Given the description of an element on the screen output the (x, y) to click on. 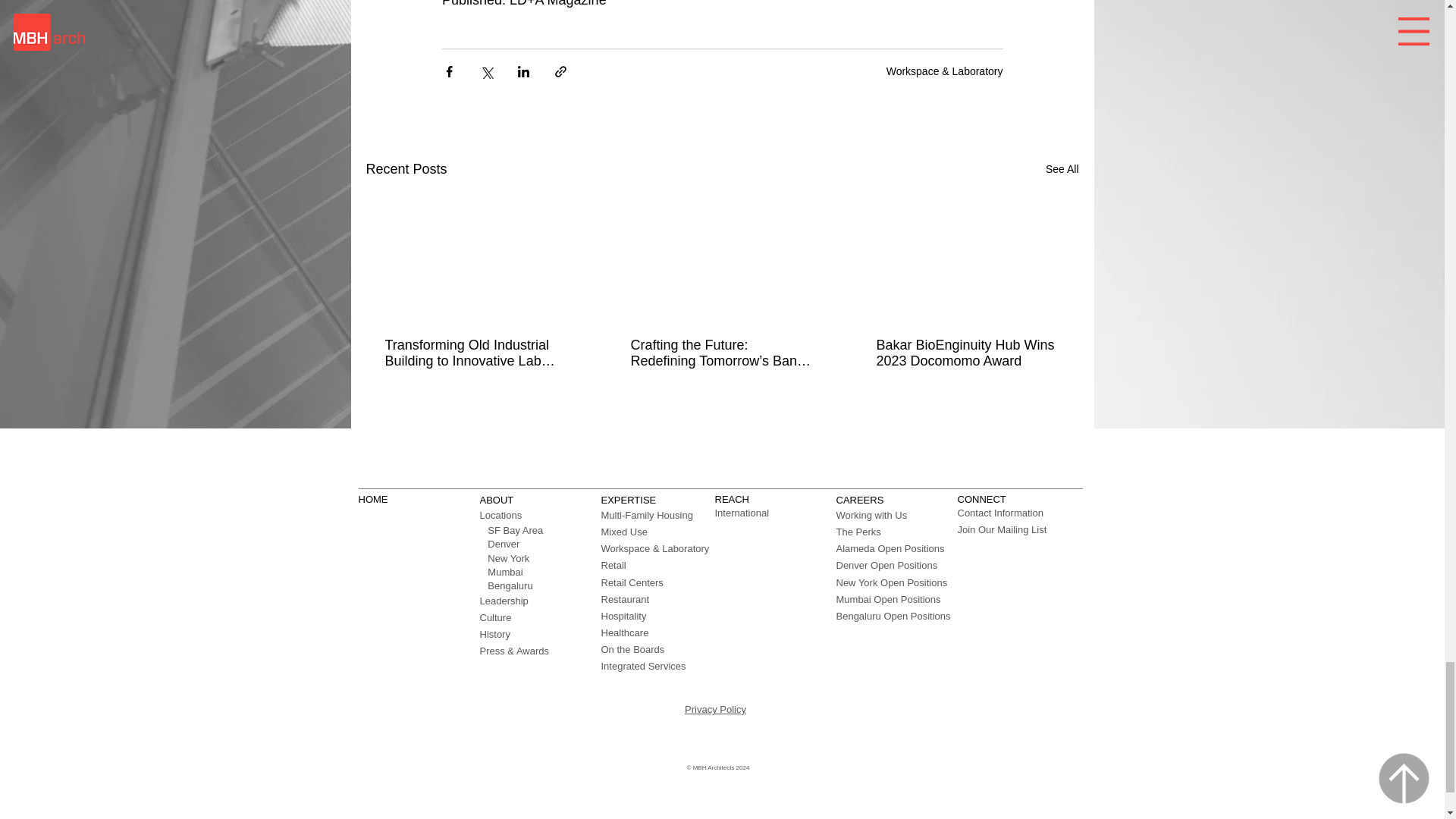
International (741, 512)
Transforming Old Industrial Building to Innovative Lab Space (476, 353)
Integrated Services (642, 665)
Retail (612, 564)
On the Boards (631, 649)
Retail Centers (630, 582)
Privacy Policy (714, 708)
Bakar BioEnginuity Hub Wins 2023 Docomomo Award (967, 353)
Multi-Family Housing (646, 514)
Mixed Use (622, 531)
Restaurant (624, 599)
See All (1061, 169)
EXPERTISE (627, 500)
Hospitality (622, 615)
Healthcare (623, 632)
